Given the description of an element on the screen output the (x, y) to click on. 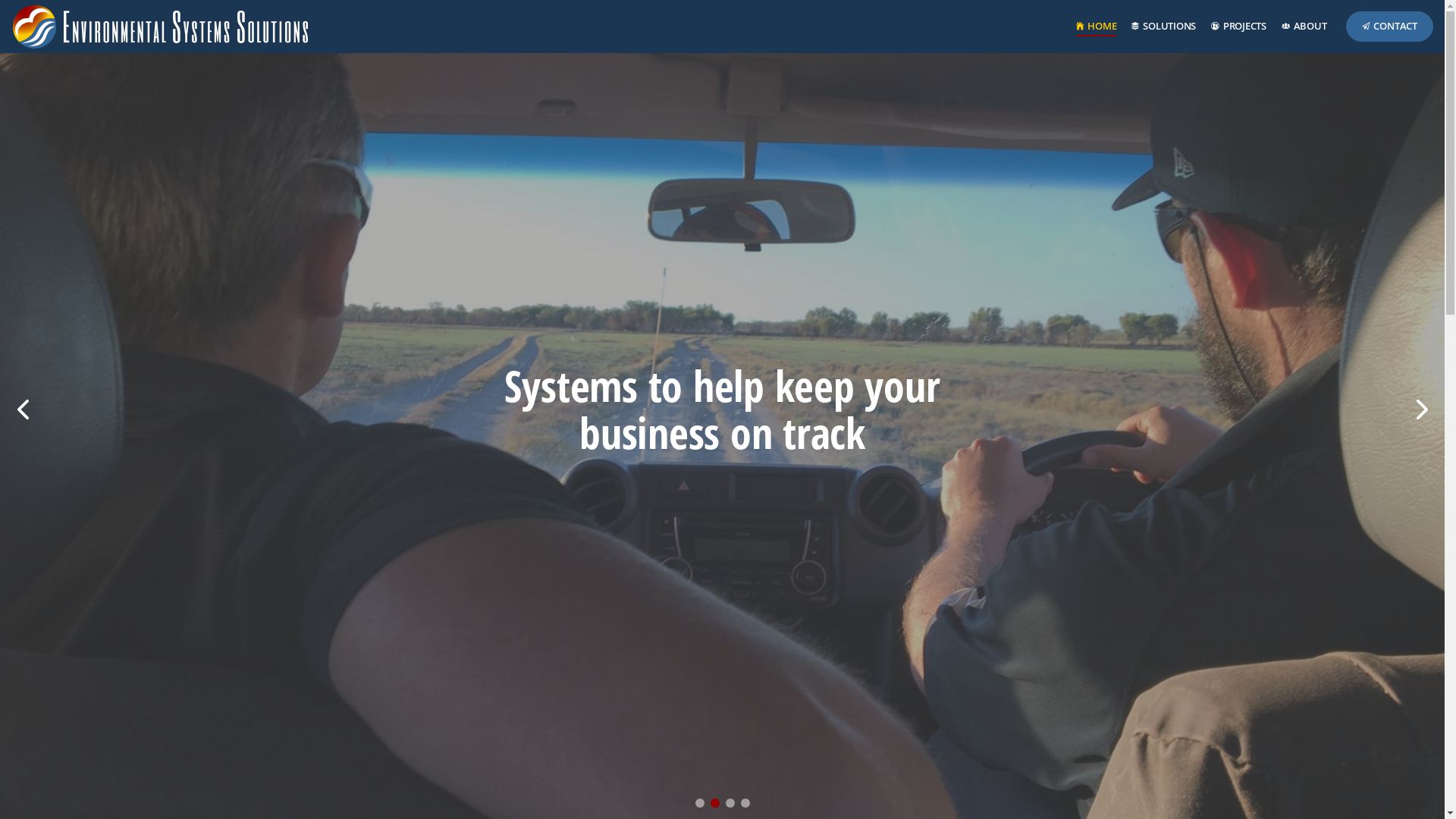
4 Element type: text (744, 802)
ABOUT Element type: text (1304, 26)
2 Element type: text (713, 802)
CONTACT Element type: text (1389, 26)
3 Element type: text (729, 802)
Skip to main content Element type: text (721, 14)
PROJECTS Element type: text (1238, 26)
Environmental Systems Solutions Element type: text (160, 26)
SOLUTIONS Element type: text (1163, 26)
1 Element type: text (698, 802)
HOME Element type: text (1096, 26)
